Given the description of an element on the screen output the (x, y) to click on. 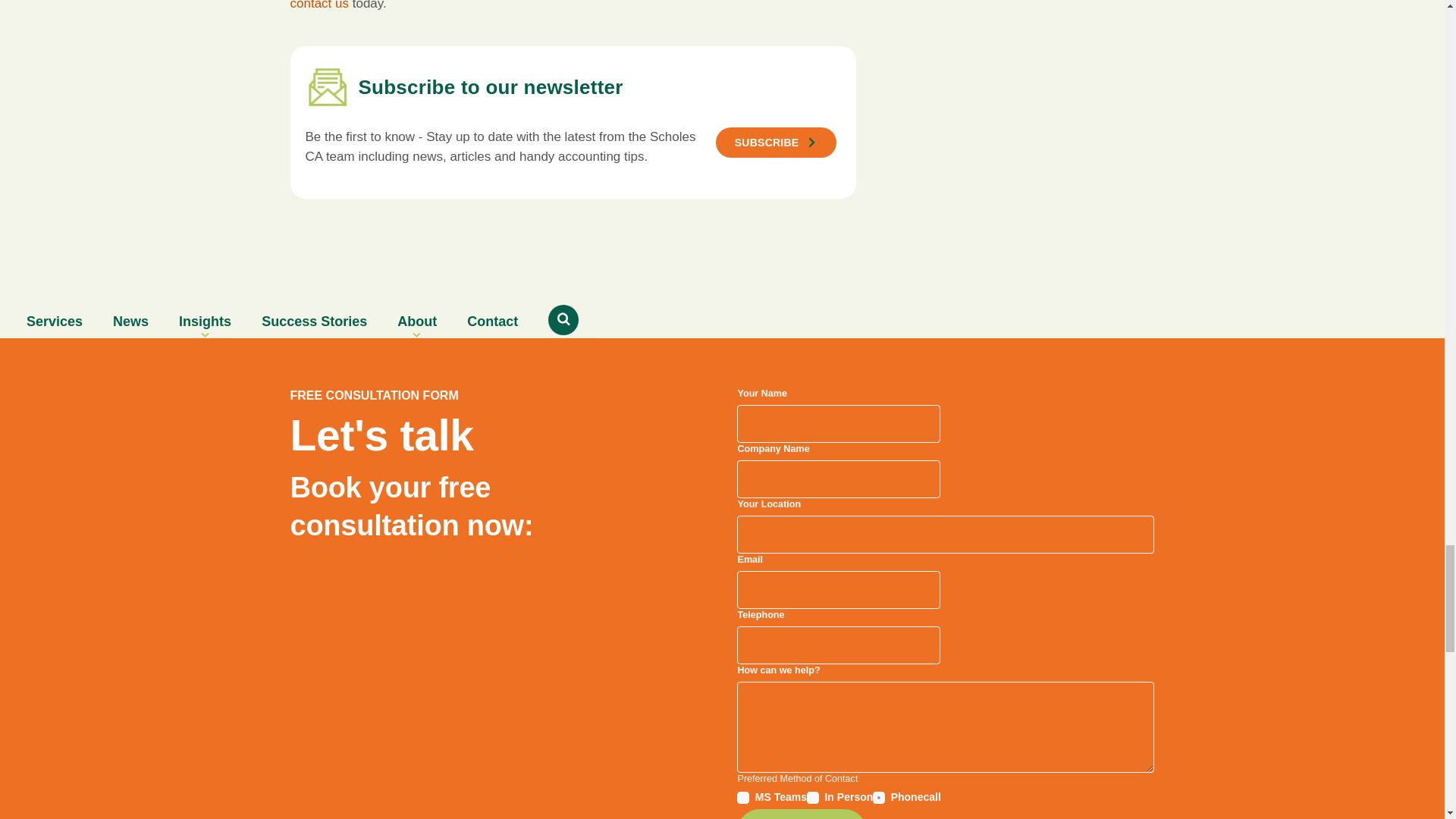
News (130, 321)
About (416, 321)
Services (54, 321)
Success Stories (313, 321)
Contact (491, 321)
Phonecall (878, 797)
SUBSCRIBE (776, 142)
In Person (812, 797)
contact us (319, 5)
Insights (204, 321)
